Given the description of an element on the screen output the (x, y) to click on. 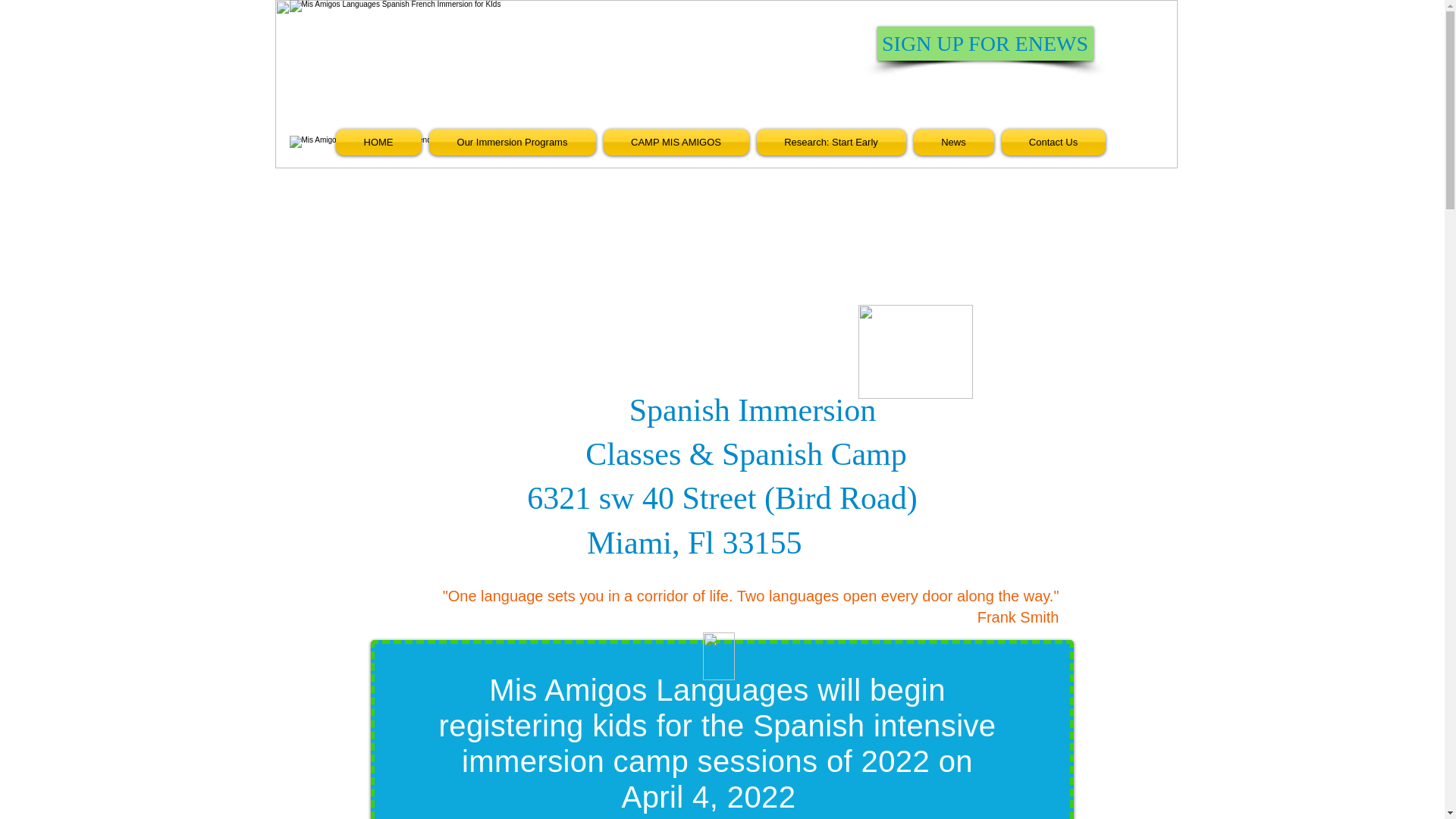
Research: Start Early (830, 141)
Contact Us (1051, 141)
CAMP MIS AMIGOS (675, 141)
News (953, 141)
Our Immersion Programs (511, 141)
SIGN UP FOR ENEWS (984, 43)
HOME (379, 141)
